Given the description of an element on the screen output the (x, y) to click on. 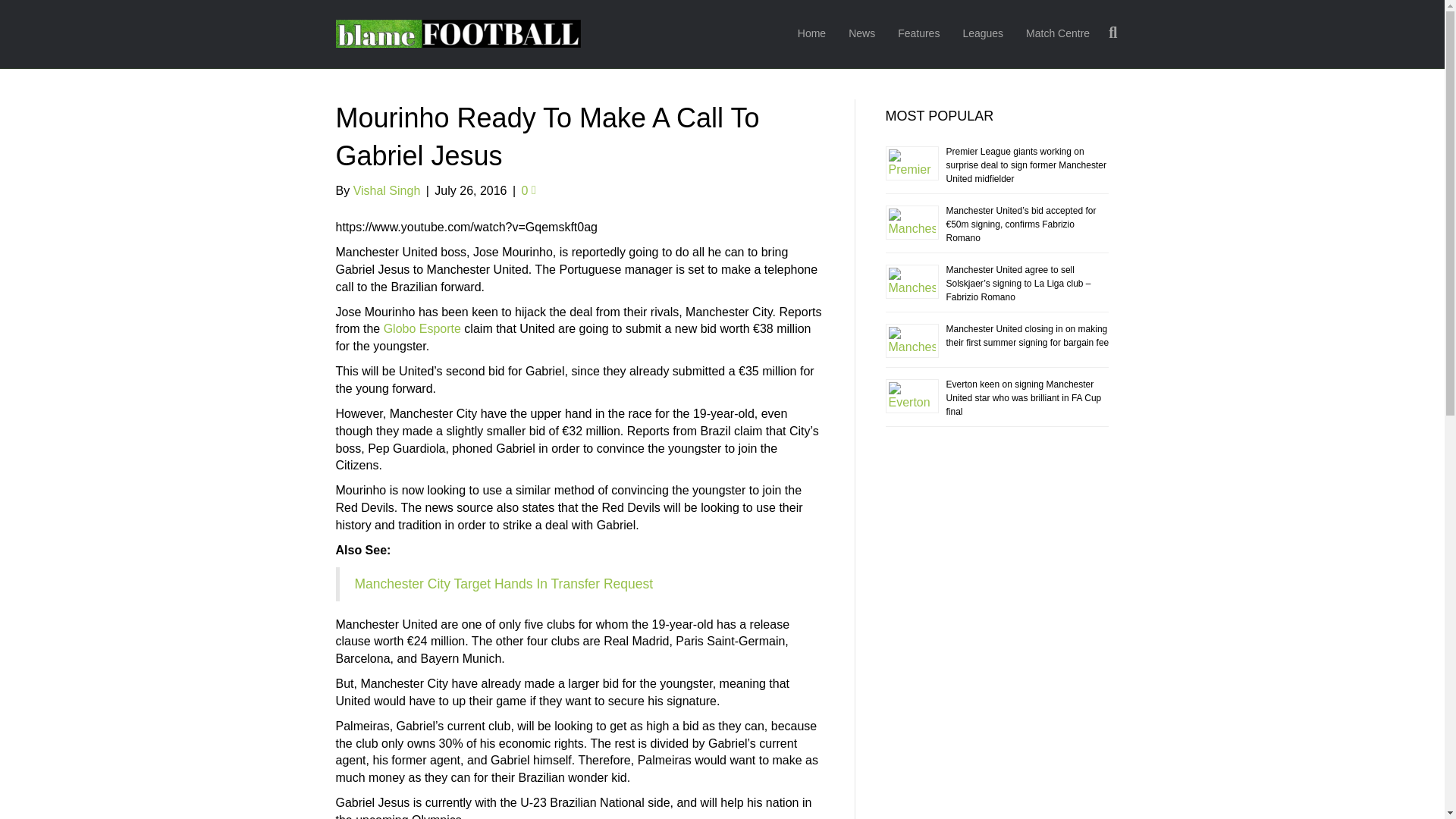
Features (918, 34)
Home (811, 34)
News (861, 34)
Leagues (982, 34)
Match Centre (1057, 34)
